Given the description of an element on the screen output the (x, y) to click on. 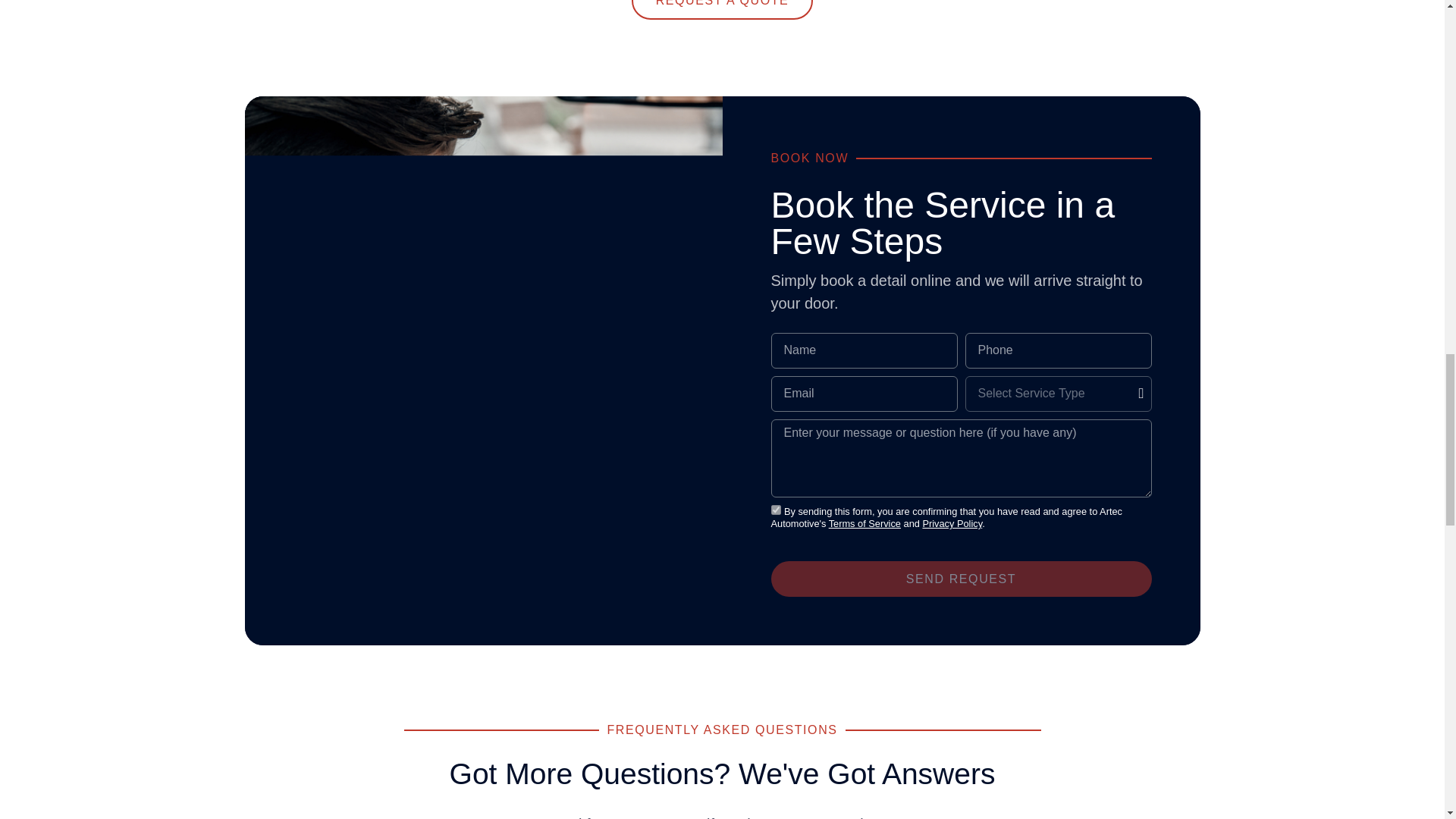
Privacy Policy (951, 523)
contact us (667, 817)
Terms of Service (864, 523)
on (775, 510)
SEND REQUEST (960, 579)
REQUEST A QUOTE (722, 9)
